Given the description of an element on the screen output the (x, y) to click on. 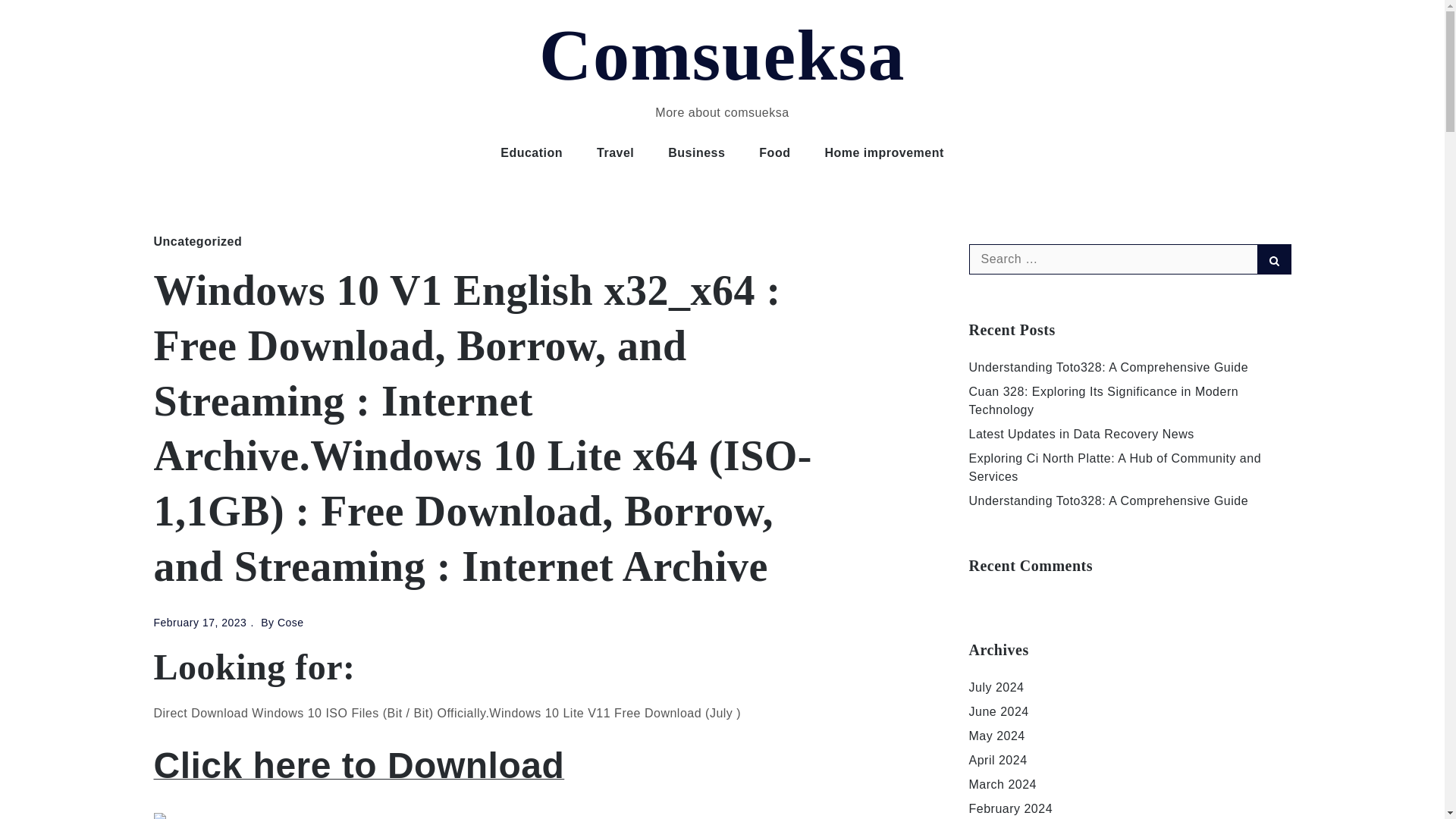
Travel (614, 152)
February 17, 2023 (199, 622)
Search (1274, 259)
Education (531, 152)
July 2024 (997, 686)
Comsueksa (721, 54)
Latest Updates in Data Recovery News (1081, 433)
Uncategorized (196, 241)
Home improvement (883, 152)
Food (774, 152)
Business (695, 152)
Cuan 328: Exploring Its Significance in Modern Technology (1104, 400)
Understanding Toto328: A Comprehensive Guide (1109, 367)
May 2024 (997, 735)
June 2024 (999, 711)
